Given the description of an element on the screen output the (x, y) to click on. 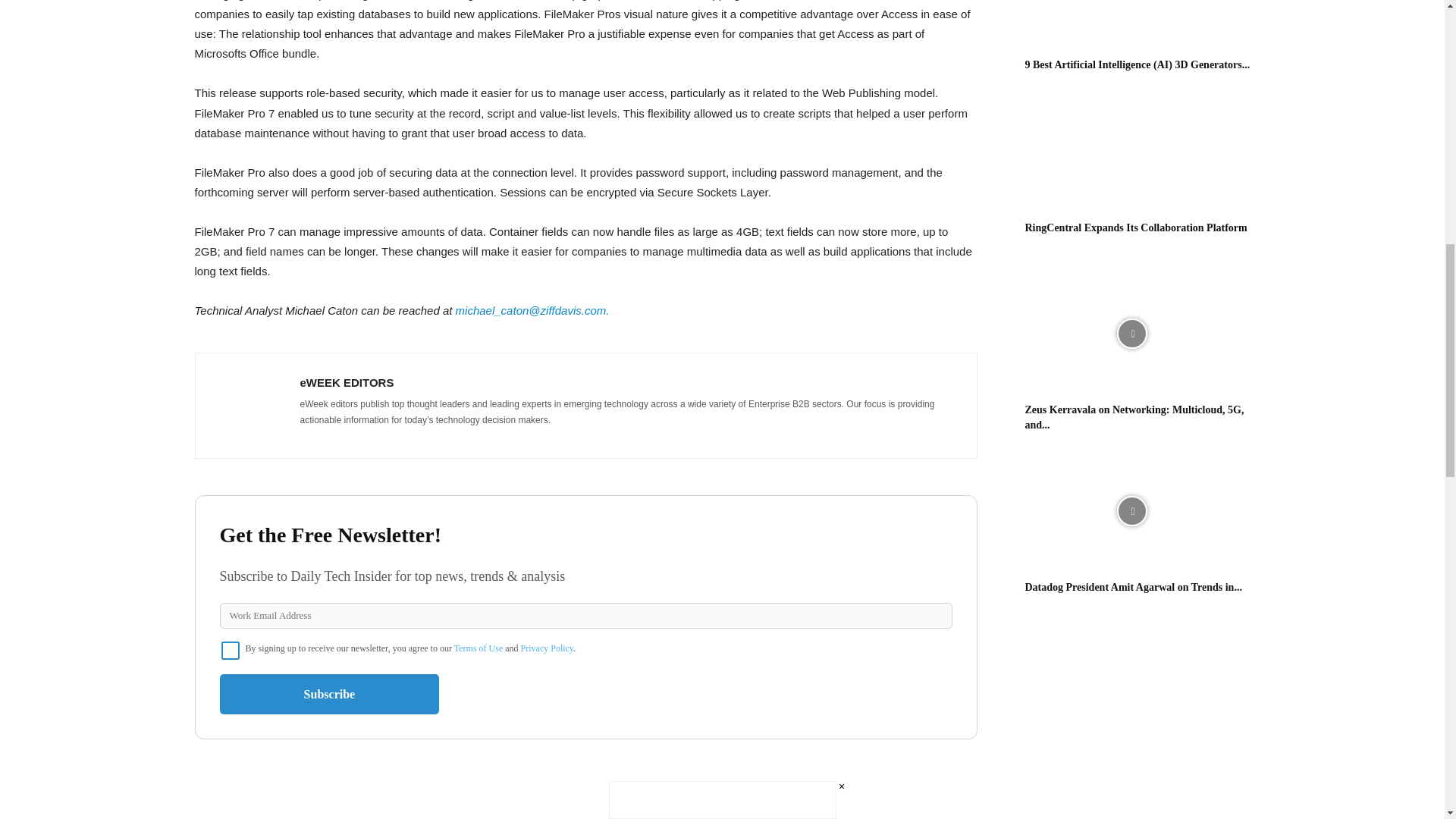
on (230, 650)
RingCentral Expands Its Collaboration Platform (1131, 151)
RingCentral Expands Its Collaboration Platform (1136, 227)
Zeus Kerravala on Networking: Multicloud, 5G, and Automation (1134, 417)
Zeus Kerravala on Networking: Multicloud, 5G, and Automation (1131, 333)
